Given the description of an element on the screen output the (x, y) to click on. 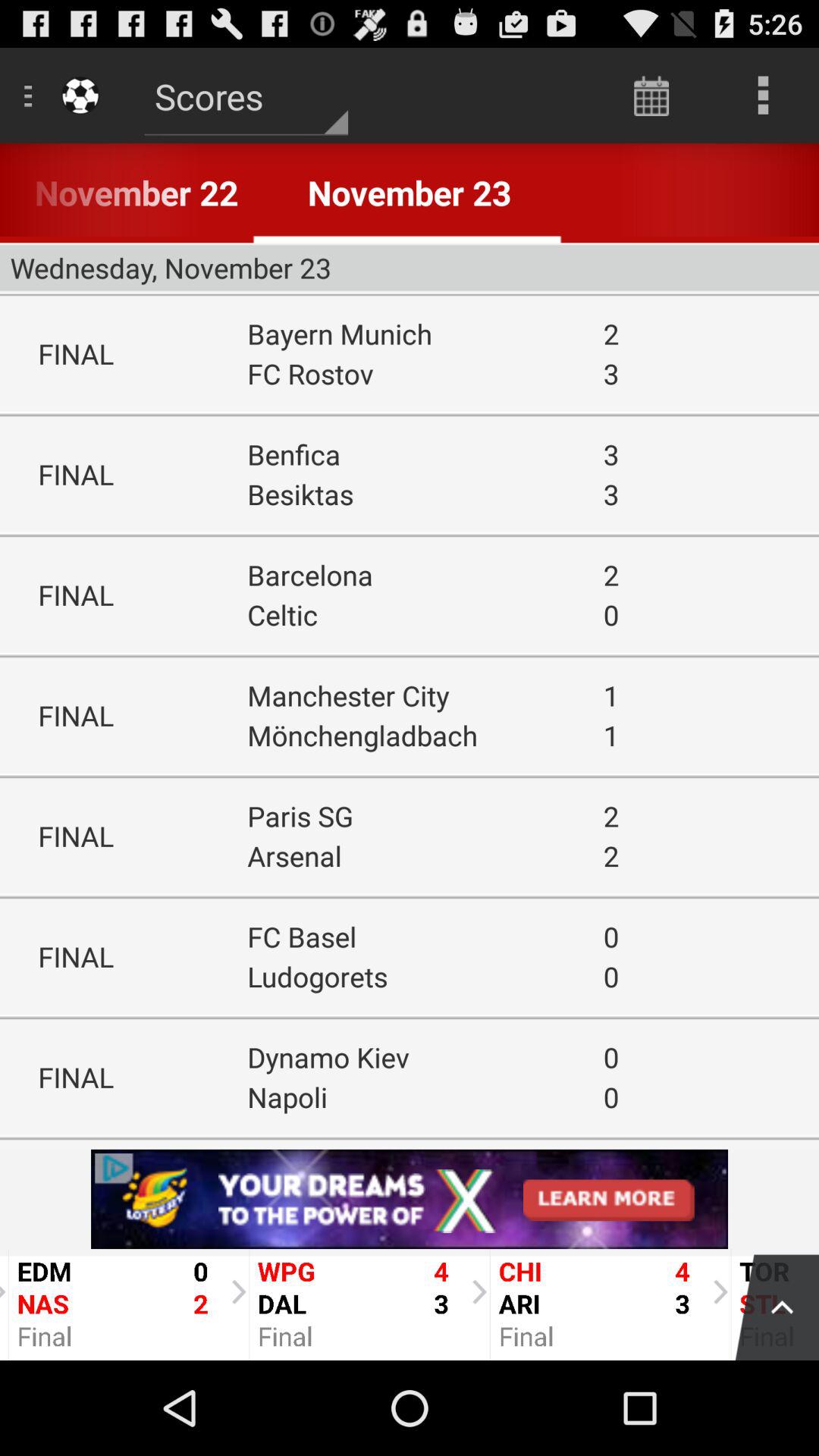
ap arrow (769, 1304)
